Given the description of an element on the screen output the (x, y) to click on. 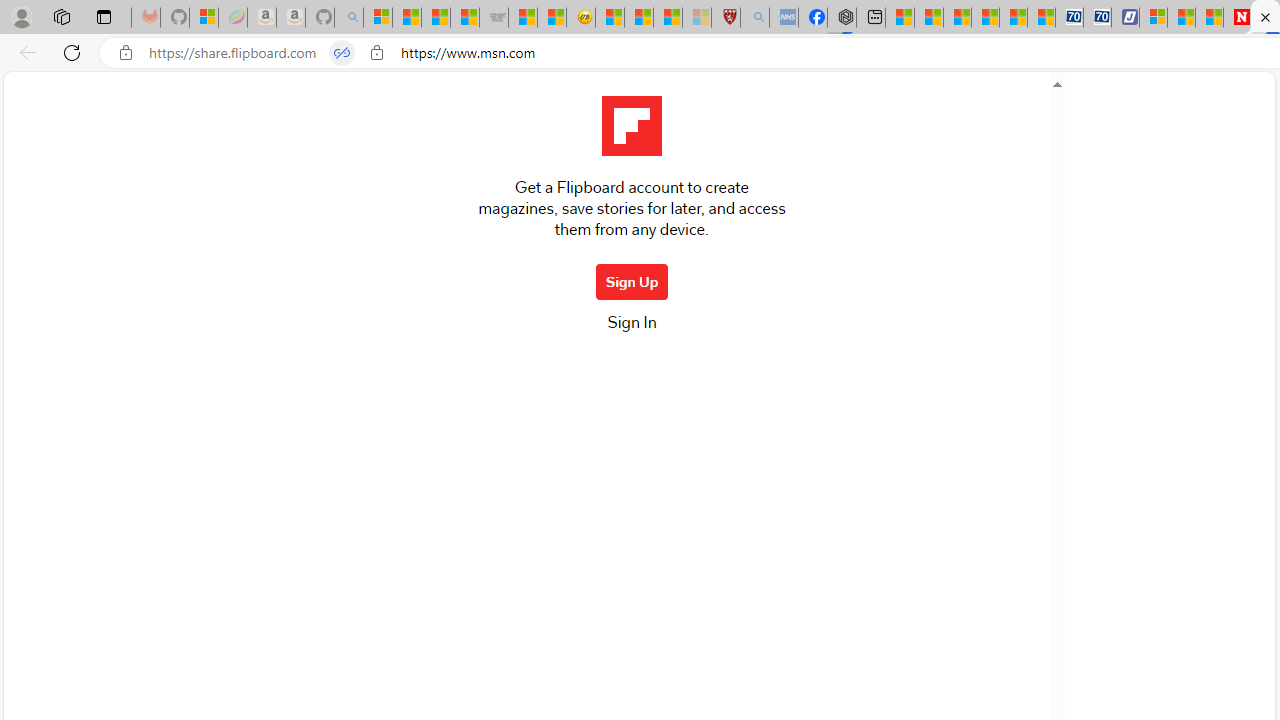
MSNBC - MSN (436, 17)
Combat Siege (494, 17)
Stocks - MSN (464, 17)
Cheap Car Rentals - Save70.com (1069, 17)
Sign In (631, 327)
